Given the description of an element on the screen output the (x, y) to click on. 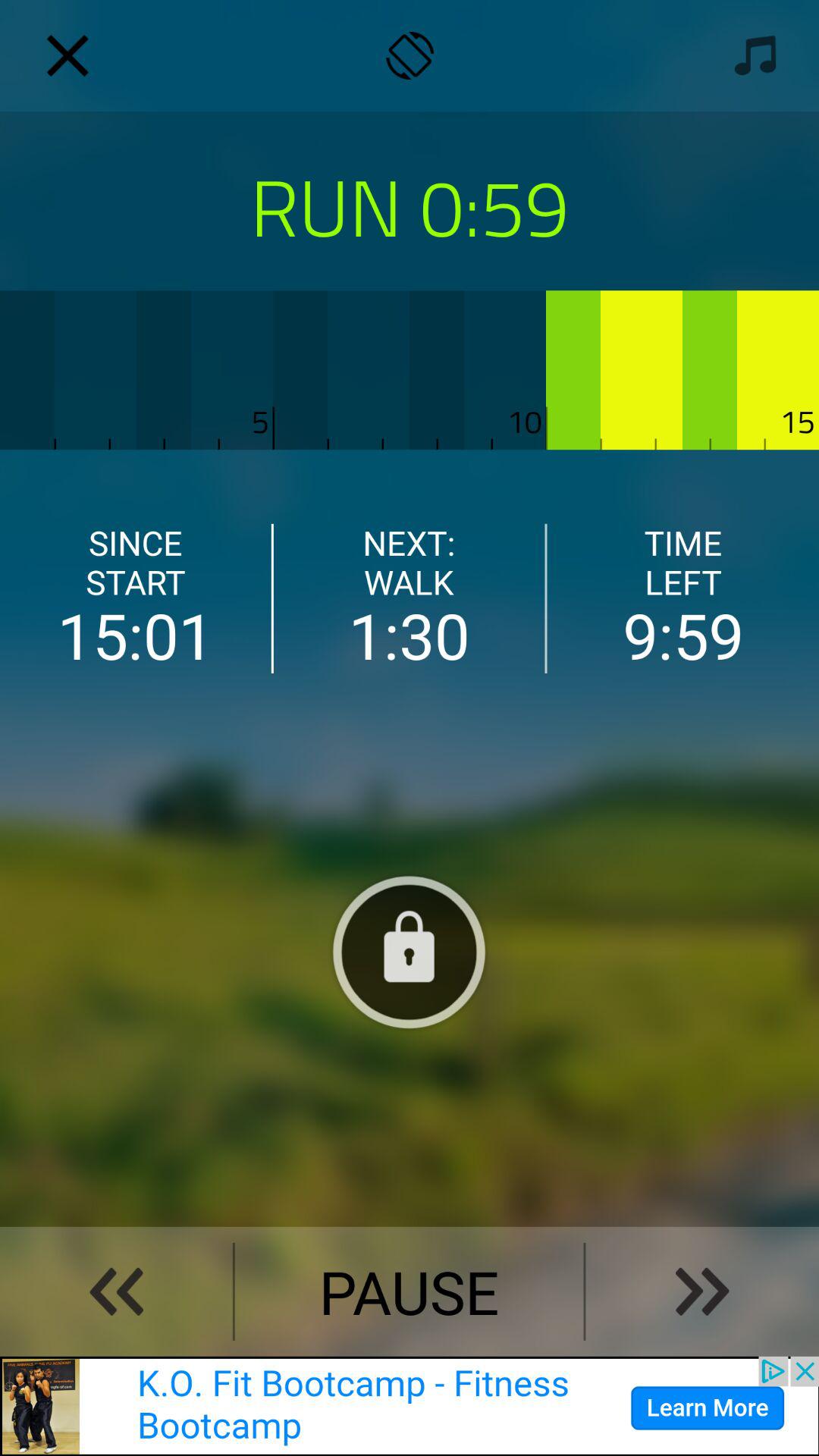
lock screen (408, 951)
